Given the description of an element on the screen output the (x, y) to click on. 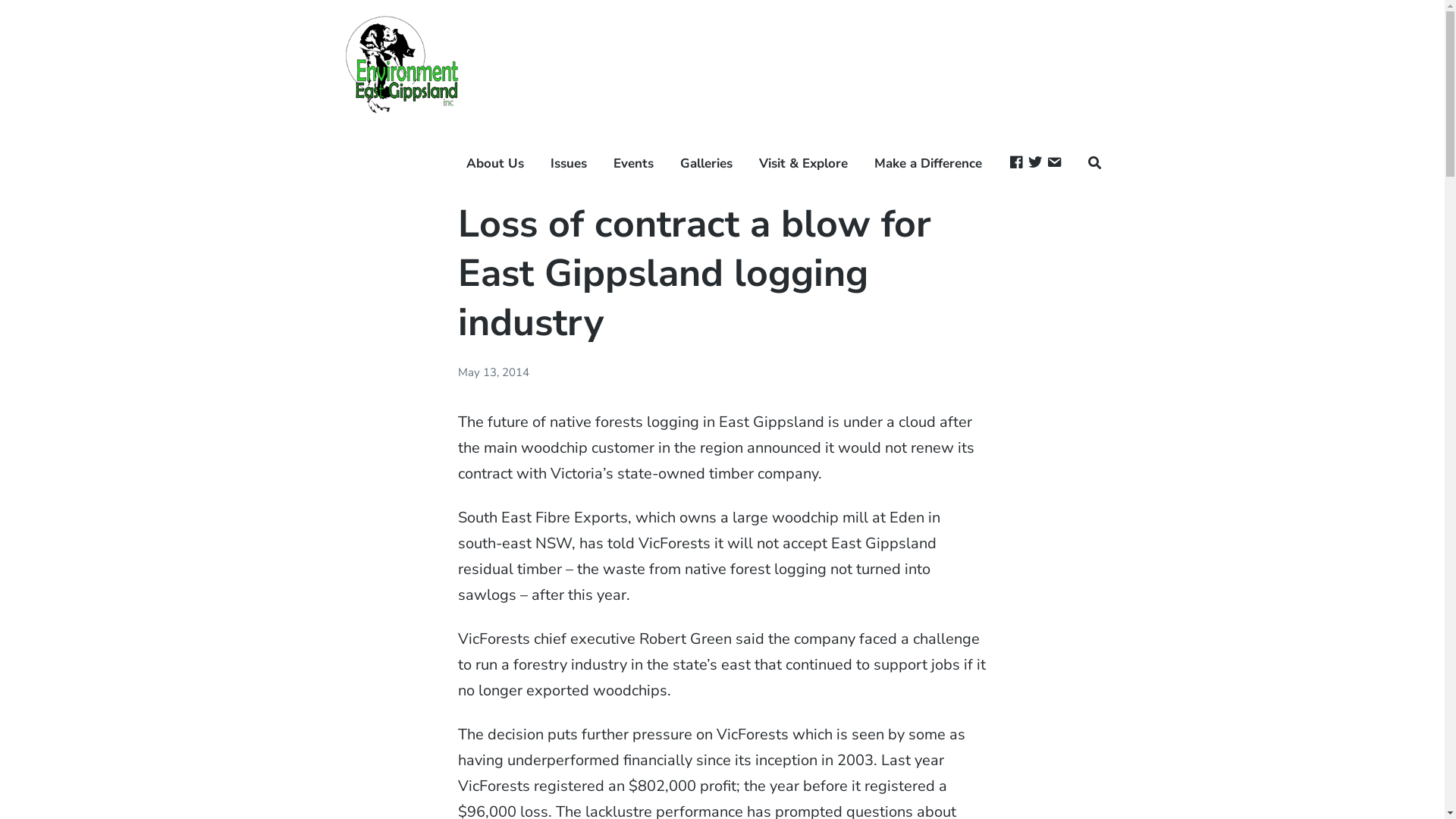
Issues Element type: text (568, 163)
Environment East Gippsland Element type: text (403, 154)
Twitter Element type: text (1034, 163)
Galleries Element type: text (706, 163)
Make a Difference Element type: text (928, 163)
Facebook Element type: text (1015, 163)
About Us Element type: text (495, 163)
Visit & Explore Element type: text (803, 163)
Contact Us Element type: text (1053, 163)
Events Element type: text (633, 163)
